Given the description of an element on the screen output the (x, y) to click on. 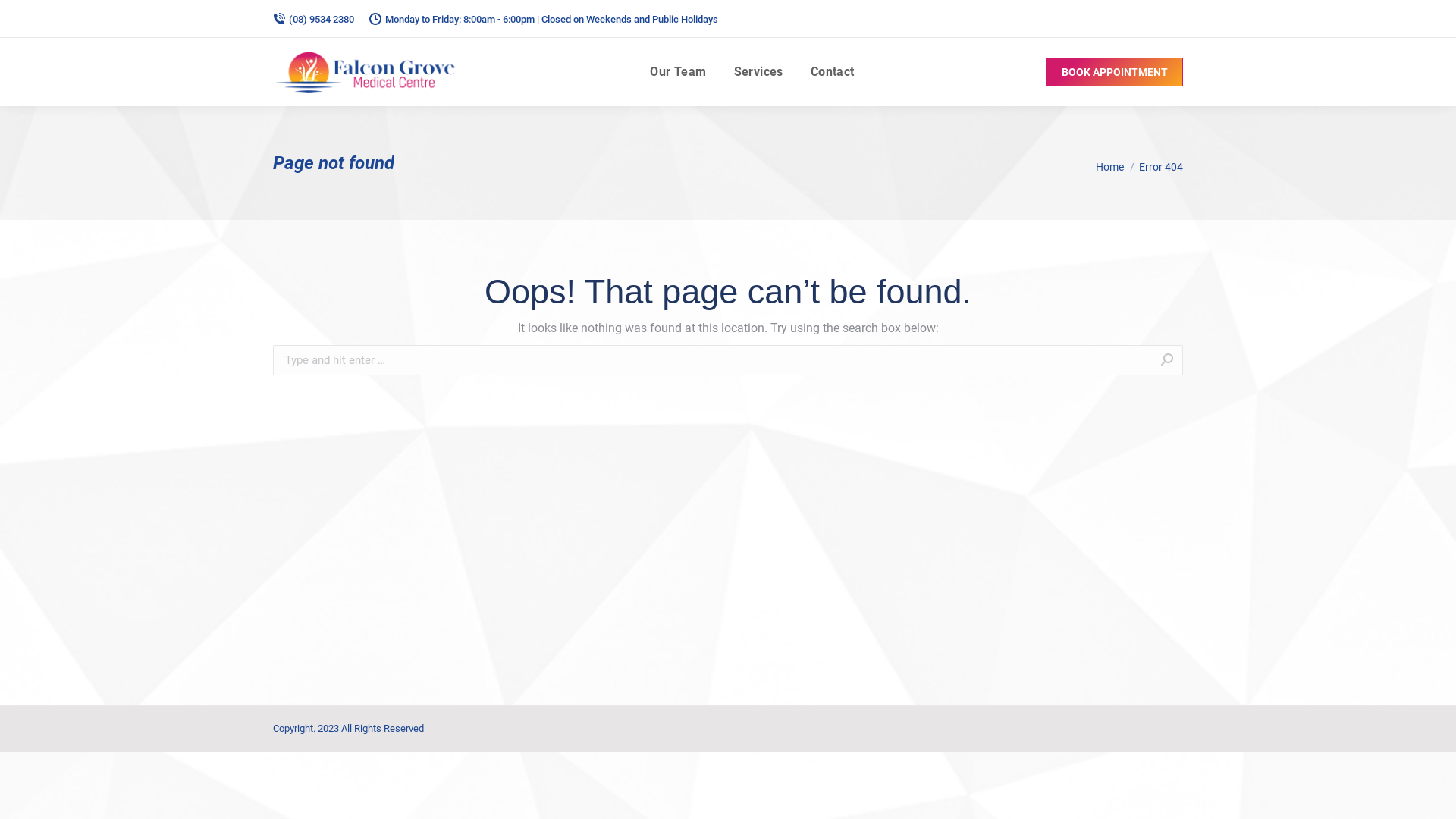
Go! Element type: text (1206, 361)
Our Team Element type: text (677, 71)
BOOK APPOINTMENT Element type: text (1114, 71)
Home Element type: text (1109, 166)
Services Element type: text (758, 71)
Contact Element type: text (832, 71)
